Given the description of an element on the screen output the (x, y) to click on. 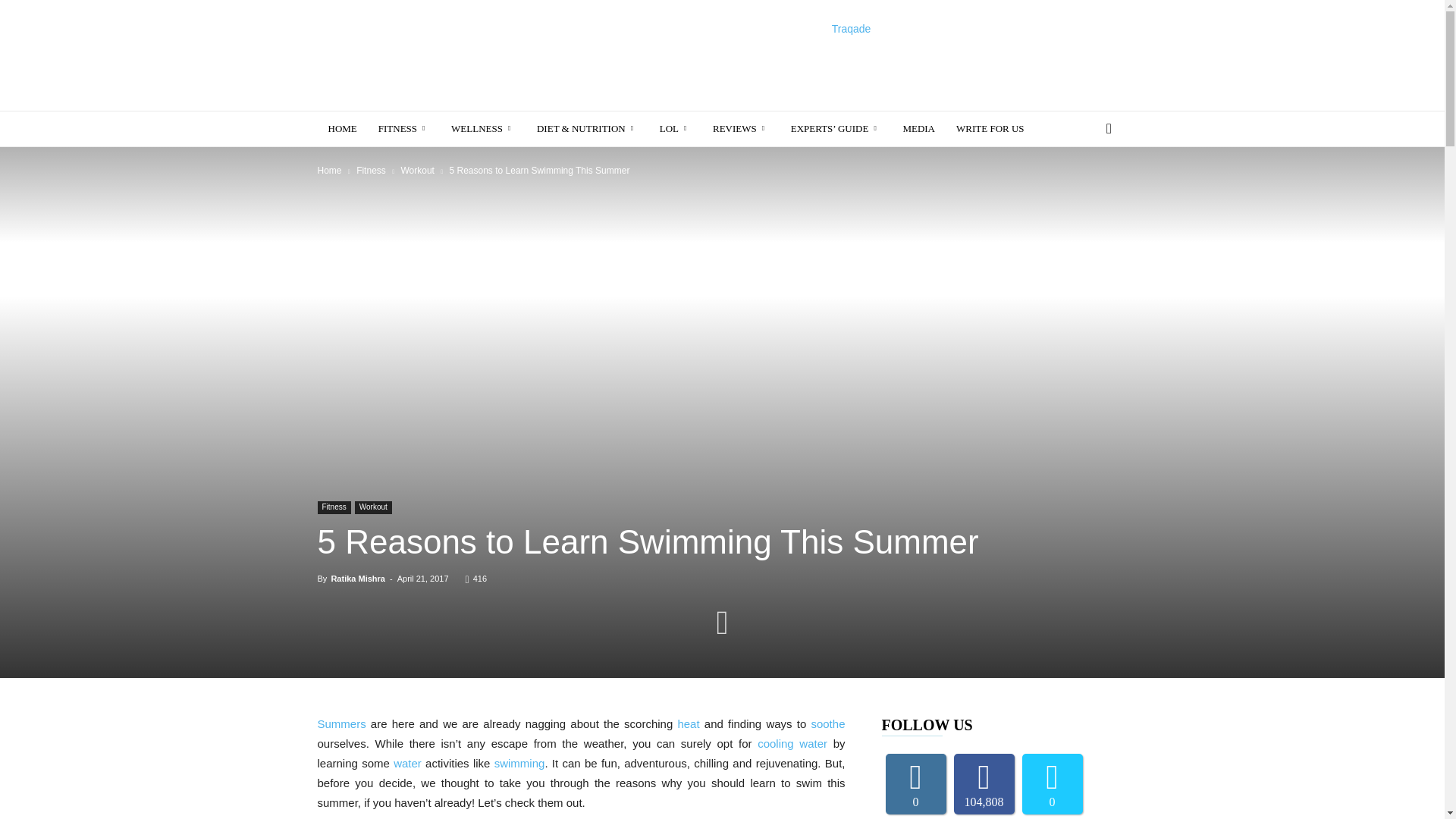
Gympik (445, 55)
Traqade (850, 28)
FITNESS (404, 128)
HOME (341, 128)
